Given the description of an element on the screen output the (x, y) to click on. 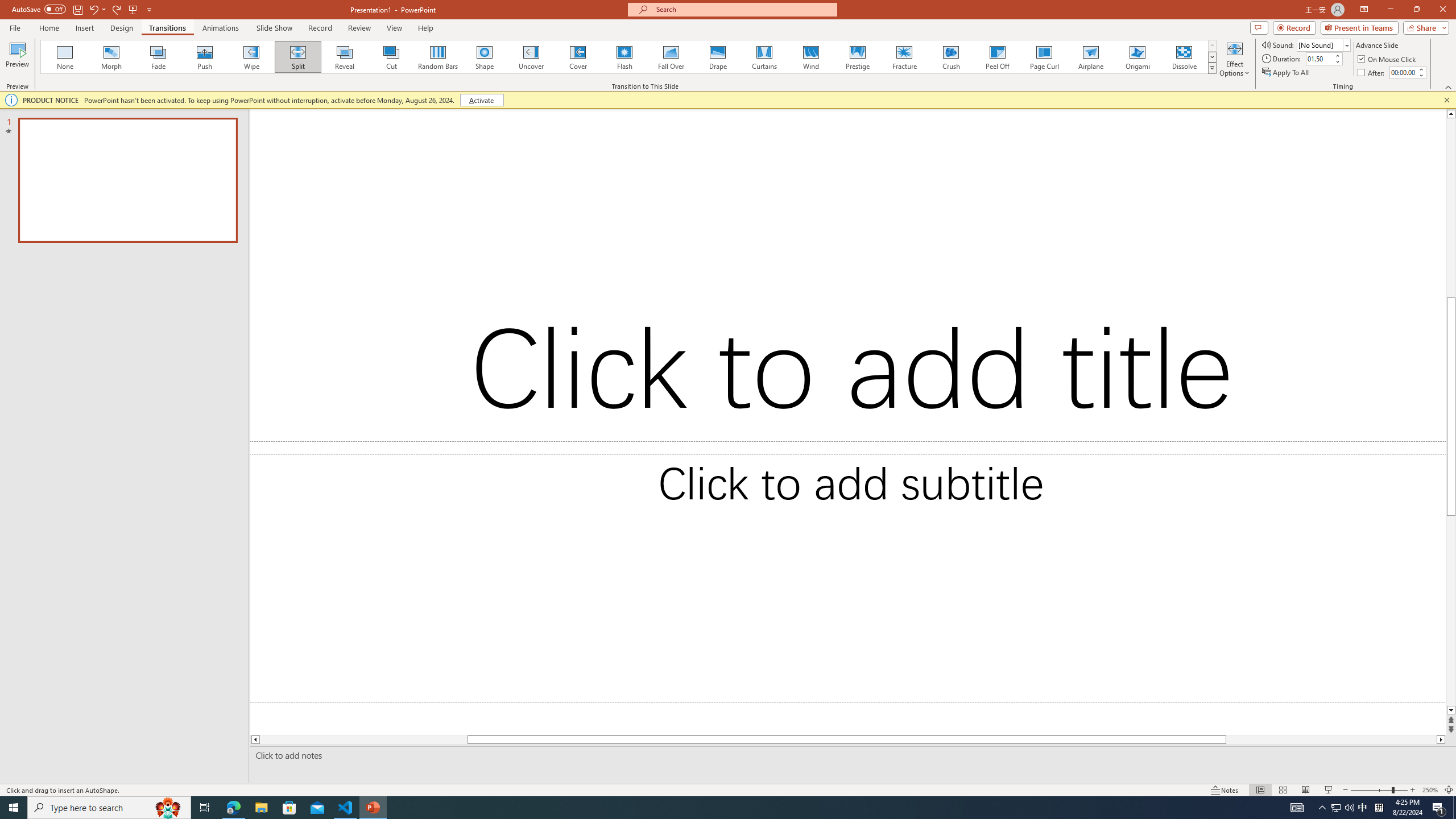
Reveal (344, 56)
Uncover (531, 56)
None (65, 56)
Curtains (764, 56)
AutomationID: AnimationTransitionGallery (628, 56)
Wipe (251, 56)
Fracture (903, 56)
After (1372, 72)
